Given the description of an element on the screen output the (x, y) to click on. 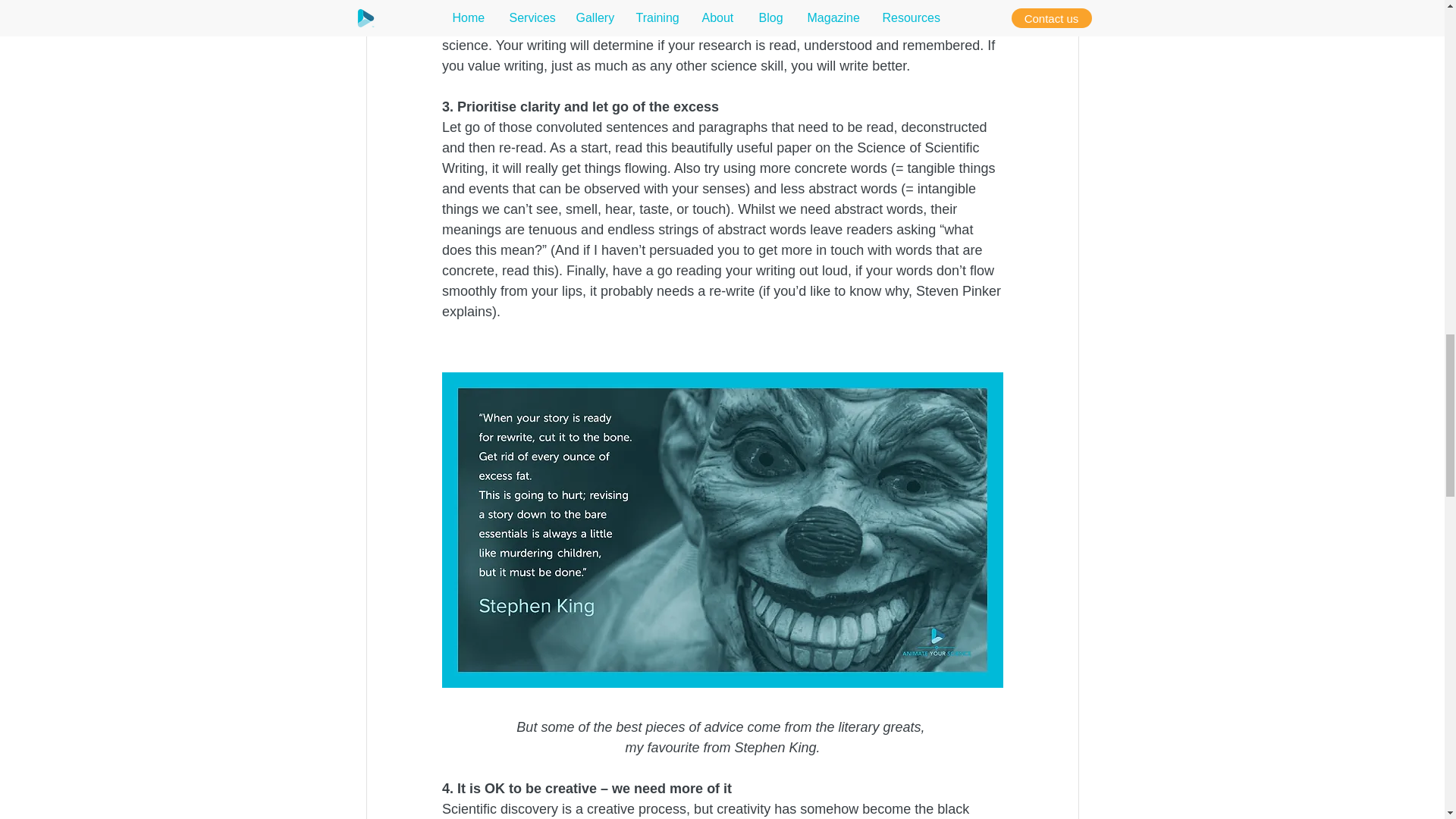
black sheep (706, 810)
Science of Scientific Writing, (711, 158)
explains (466, 311)
this (543, 270)
